Given the description of an element on the screen output the (x, y) to click on. 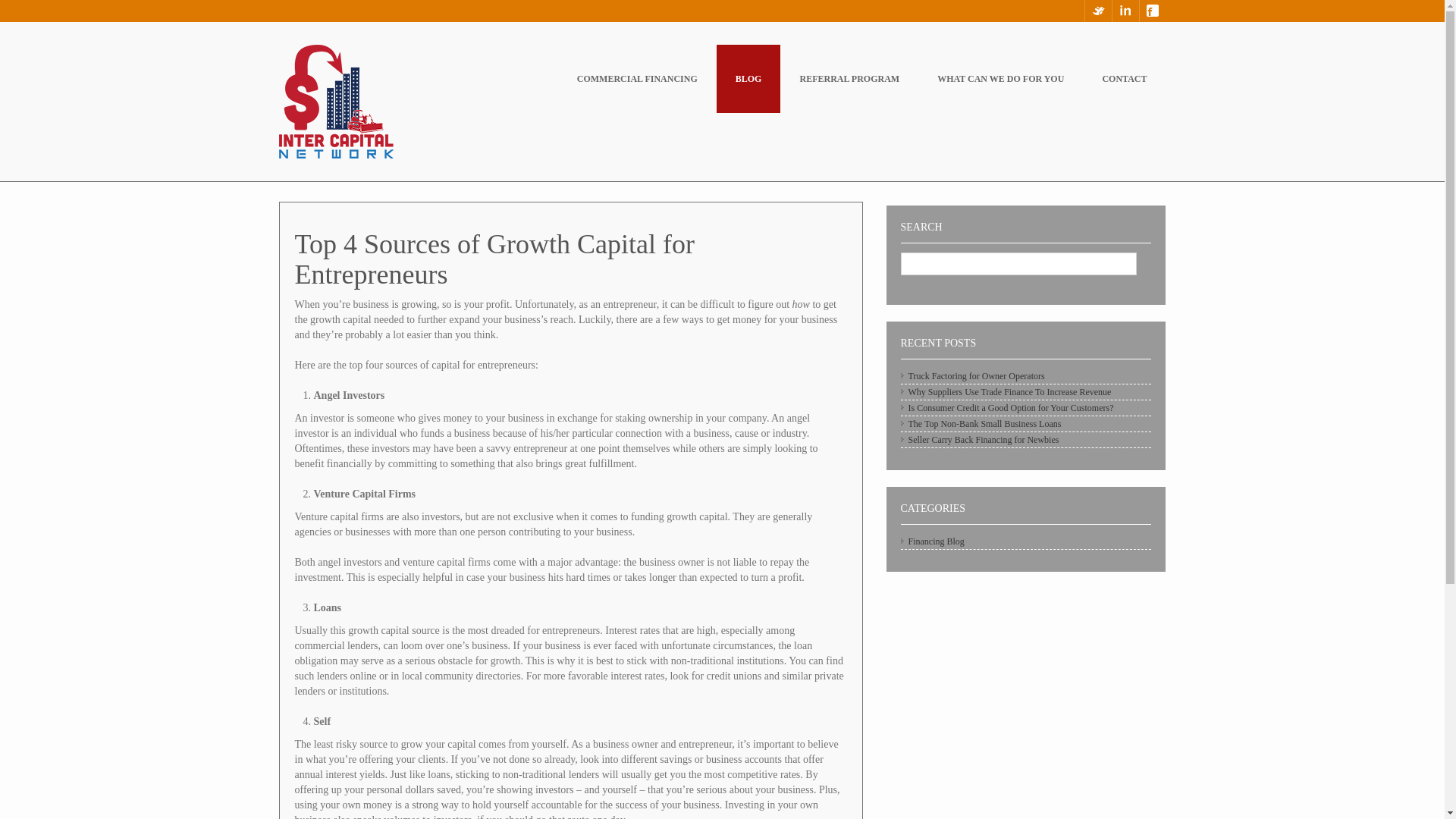
COMMERCIAL FINANCING (636, 79)
BLOG (748, 79)
Why Suppliers Use Trade Finance To Increase Revenue (1010, 391)
WHAT CAN WE DO FOR YOU (1000, 79)
Truck Factoring for Owner Operators (976, 376)
Is Consumer Credit a Good Option for Your Customers? (1010, 407)
Seller Carry Back Financing for Newbies (983, 439)
Financing Blog (935, 541)
CONTACT (1124, 79)
The Top Non-Bank Small Business Loans (984, 423)
REFERRAL PROGRAM (849, 79)
